Given the description of an element on the screen output the (x, y) to click on. 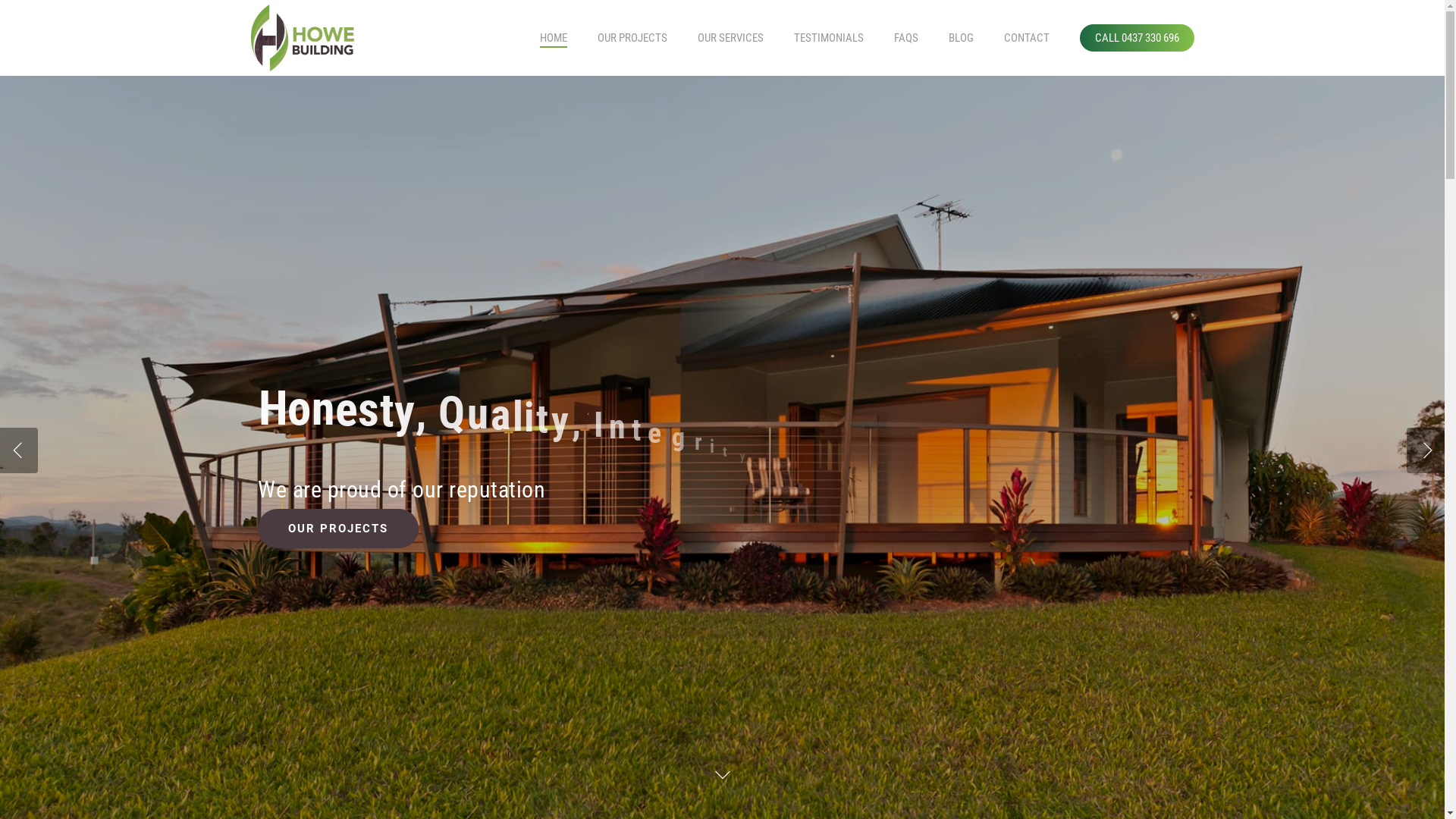
OUR PROJECTS Element type: text (337, 490)
CALL 0437 330 696 Element type: text (1136, 37)
OUR PROJECTS Element type: text (632, 37)
FAQS Element type: text (906, 37)
HOME Element type: text (553, 37)
TESTIMONIALS Element type: text (828, 37)
CONTACT Element type: text (1026, 37)
BLOG Element type: text (960, 37)
OUR SERVICES Element type: text (730, 37)
